Given the description of an element on the screen output the (x, y) to click on. 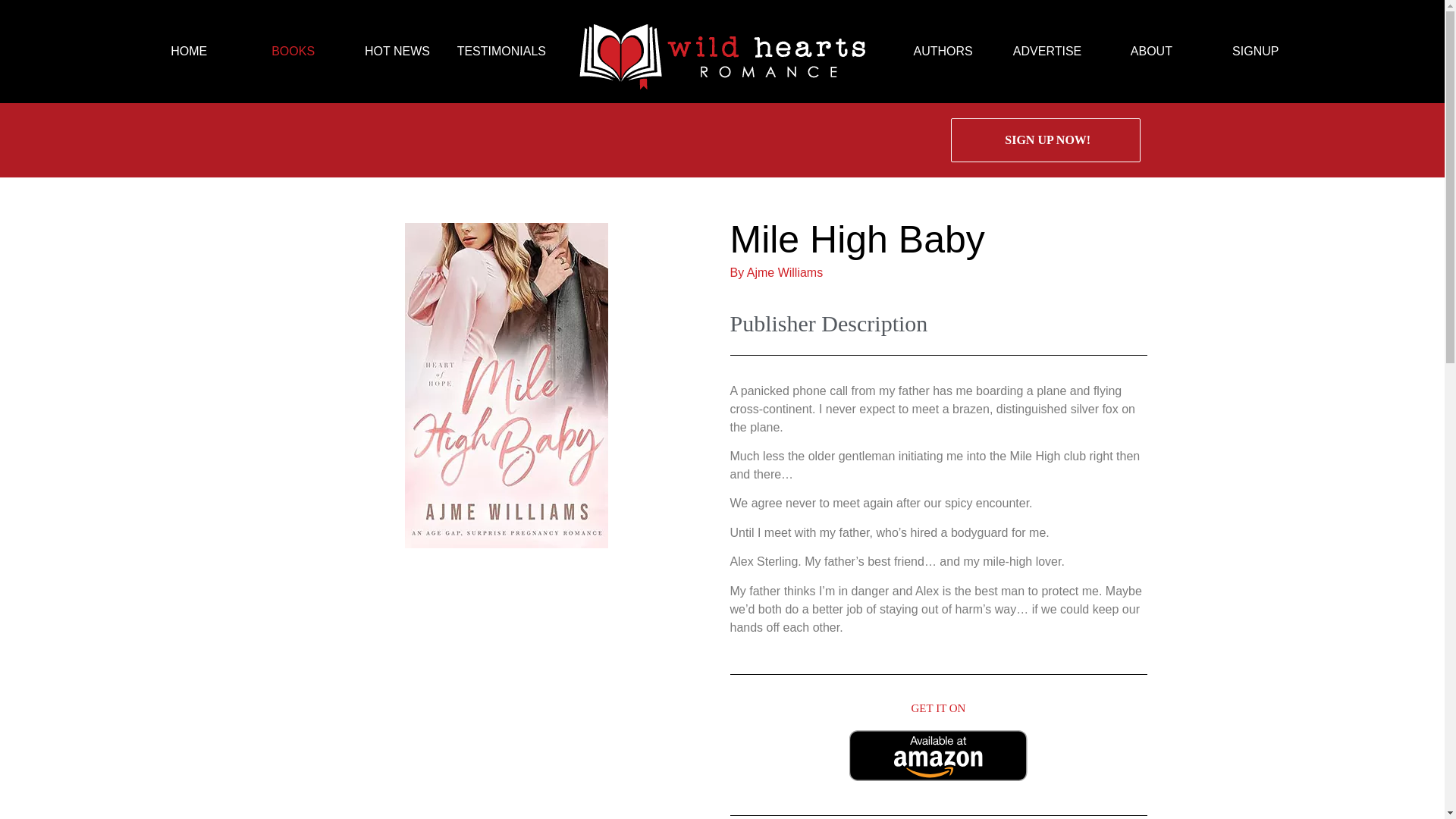
HOT NEWS (397, 51)
logo (721, 51)
HOME (188, 51)
AUTHORS (942, 51)
BOOKS (292, 51)
SIGN UP NOW! (1045, 139)
ADVERTISE (1047, 51)
SIGNUP (1254, 51)
ABOUT (1150, 51)
TESTIMONIALS (501, 51)
